Given the description of an element on the screen output the (x, y) to click on. 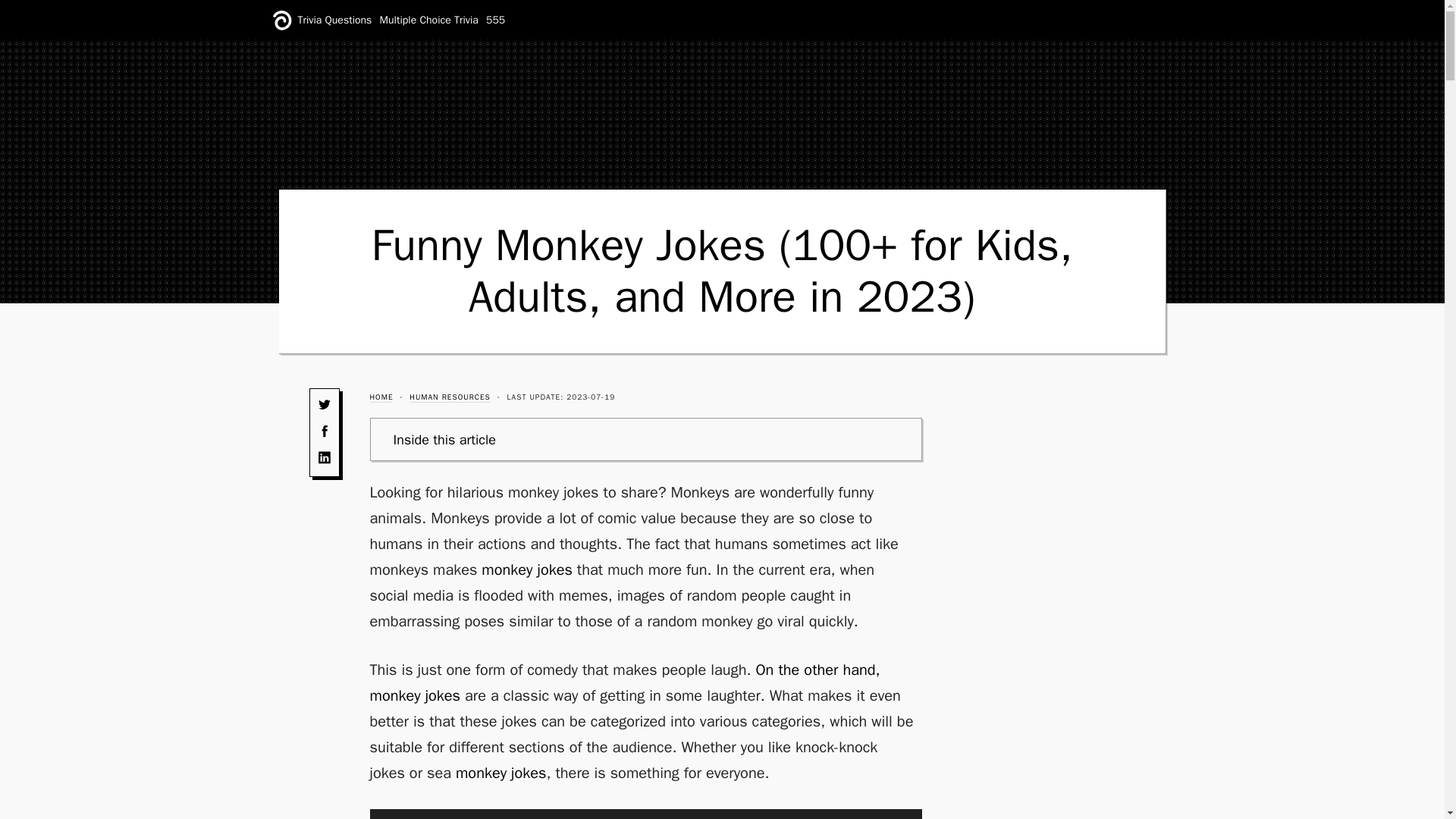
HUMAN RESOURCES (449, 397)
Trivia Questions (334, 19)
HOME (381, 397)
Best monkey jokes (485, 465)
555 (495, 19)
Multiple Choice Trivia (429, 19)
